Given the description of an element on the screen output the (x, y) to click on. 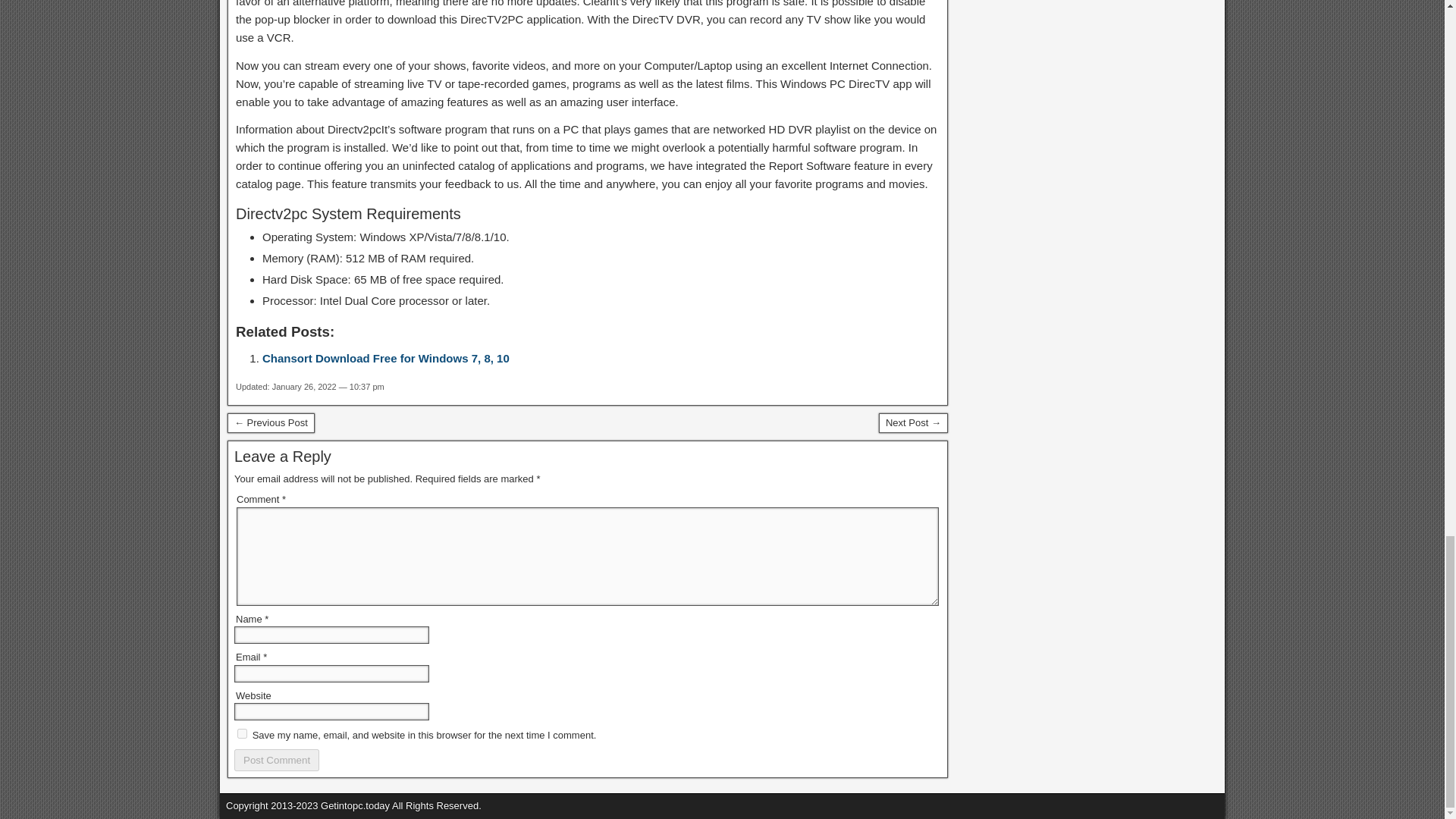
GSA Email Spider Download Free for Windows 7, 8, 10 (270, 423)
Chansort Download Free for Windows 7, 8, 10 (385, 358)
Post Comment (276, 760)
Camfrog Video Chat Download Free for Windows 7, 8, 10 (913, 423)
Post Comment (276, 760)
Chansort Download Free for Windows 7, 8, 10 (385, 358)
yes (242, 733)
